Given the description of an element on the screen output the (x, y) to click on. 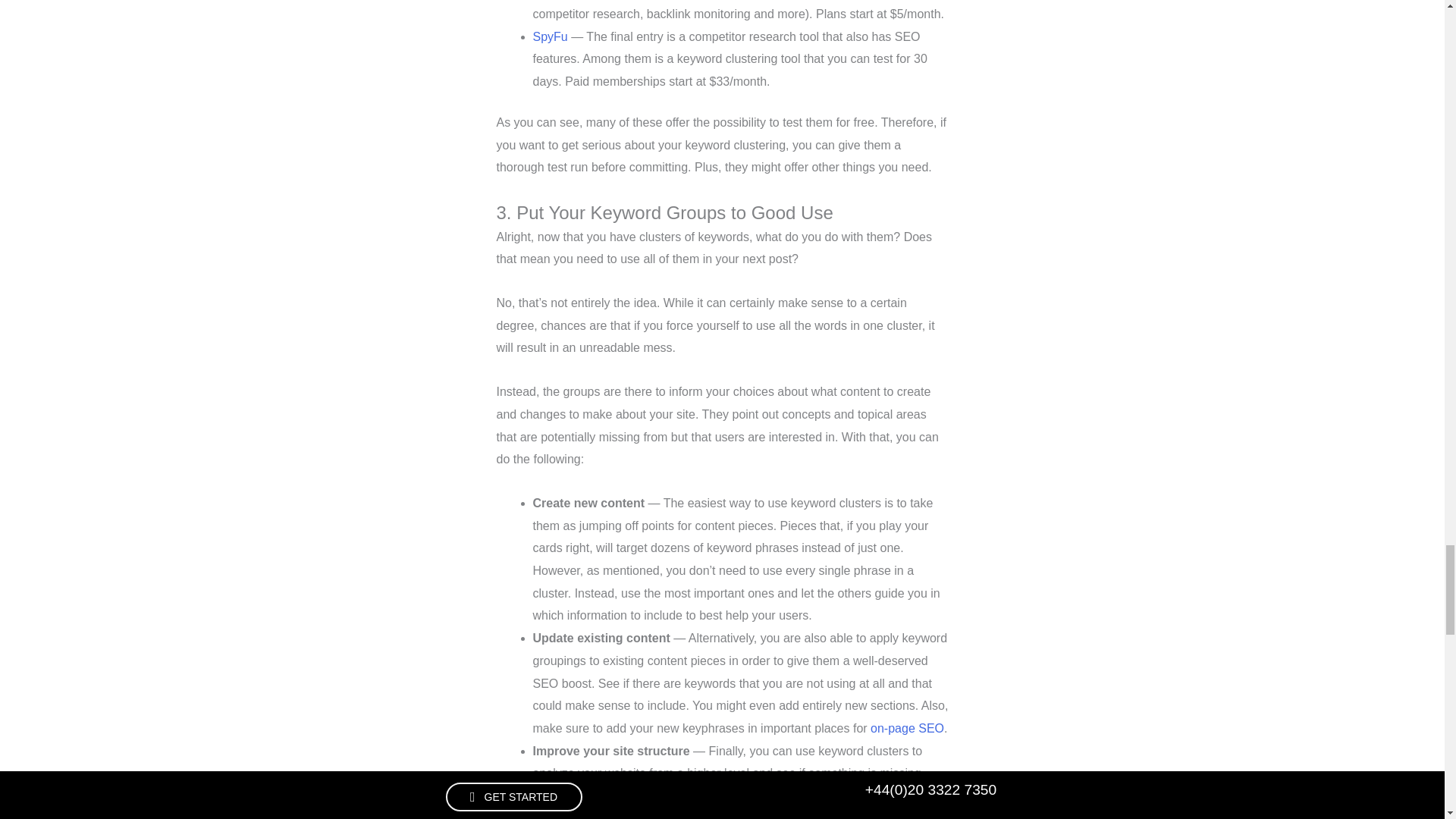
SpyFu (549, 36)
on-page SEO (906, 727)
